Given the description of an element on the screen output the (x, y) to click on. 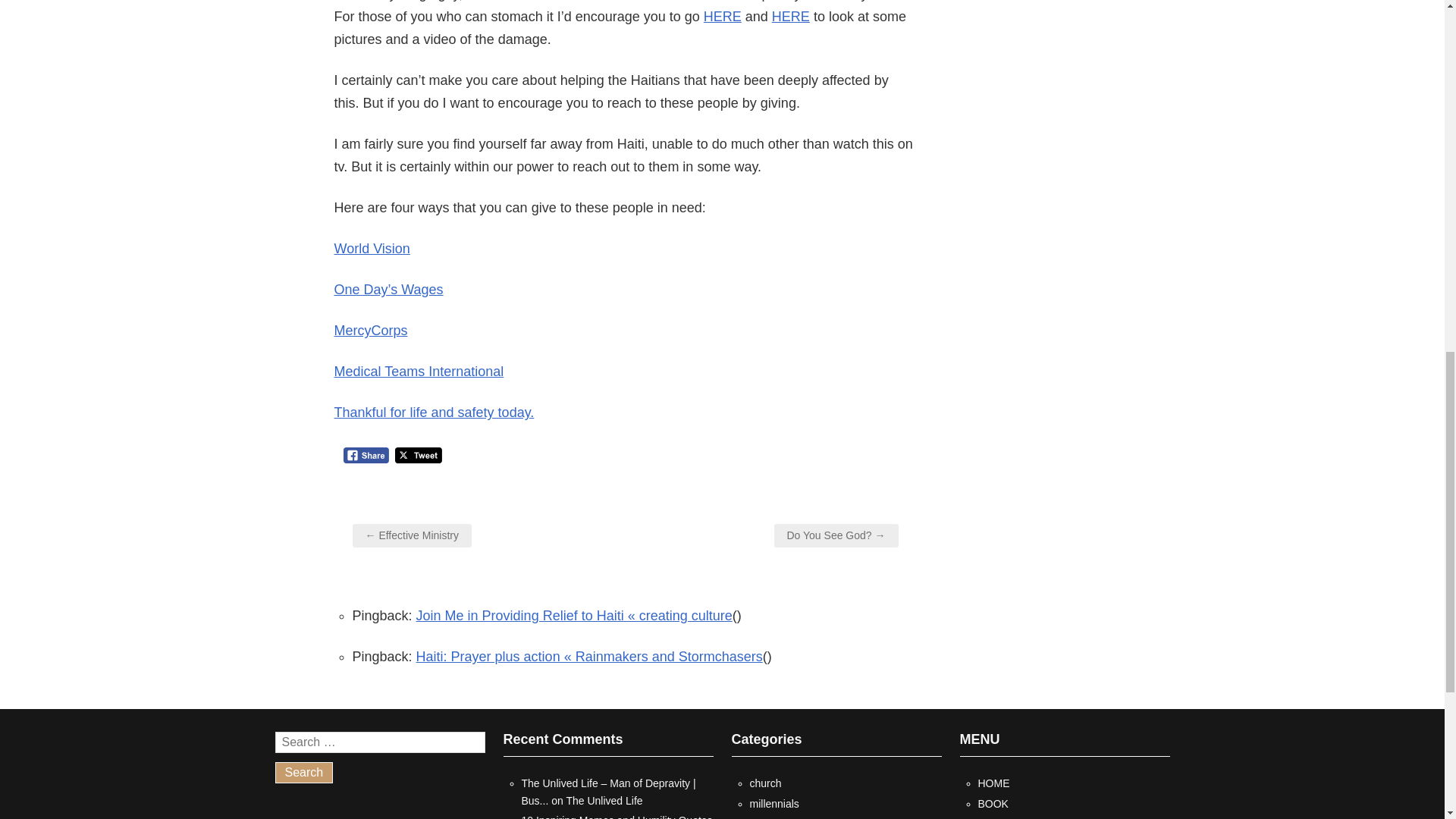
seminary (770, 818)
Facebook Share (365, 455)
Thankful for life and safety today. (433, 412)
HERE (722, 16)
Search (304, 772)
The Unlived Life (604, 800)
church (764, 783)
Search (304, 772)
Tweet (418, 455)
HERE (790, 16)
10 Inspiring Memes and Humility Quotes (617, 816)
Medical Teams International (418, 371)
World Vision (371, 248)
